Given the description of an element on the screen output the (x, y) to click on. 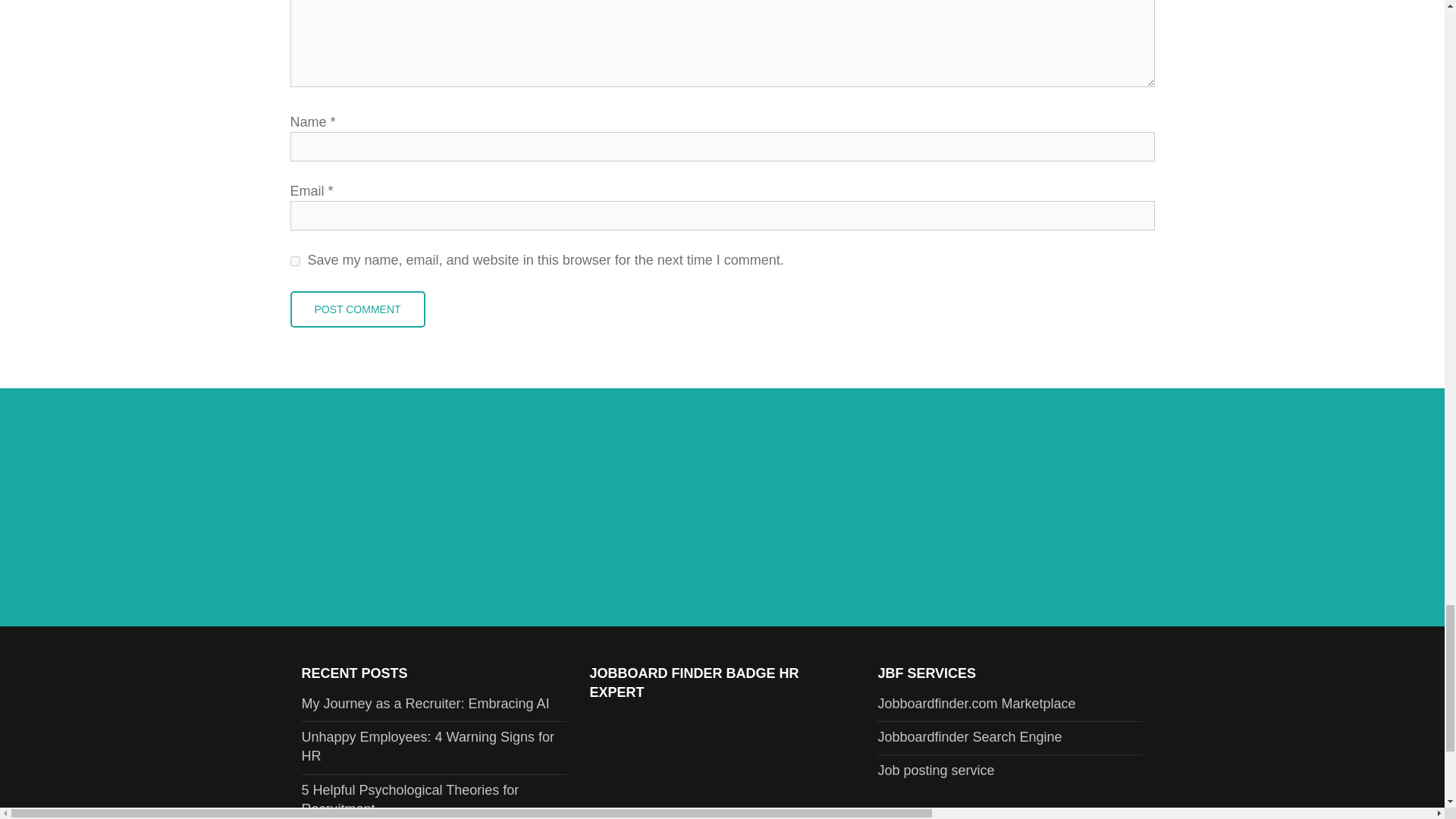
My Journey as a Recruiter: Embracing AI (425, 703)
Post Comment (357, 309)
CV-Library Writers Network Top Contributor (721, 766)
Post Comment (357, 309)
yes (294, 261)
